Given the description of an element on the screen output the (x, y) to click on. 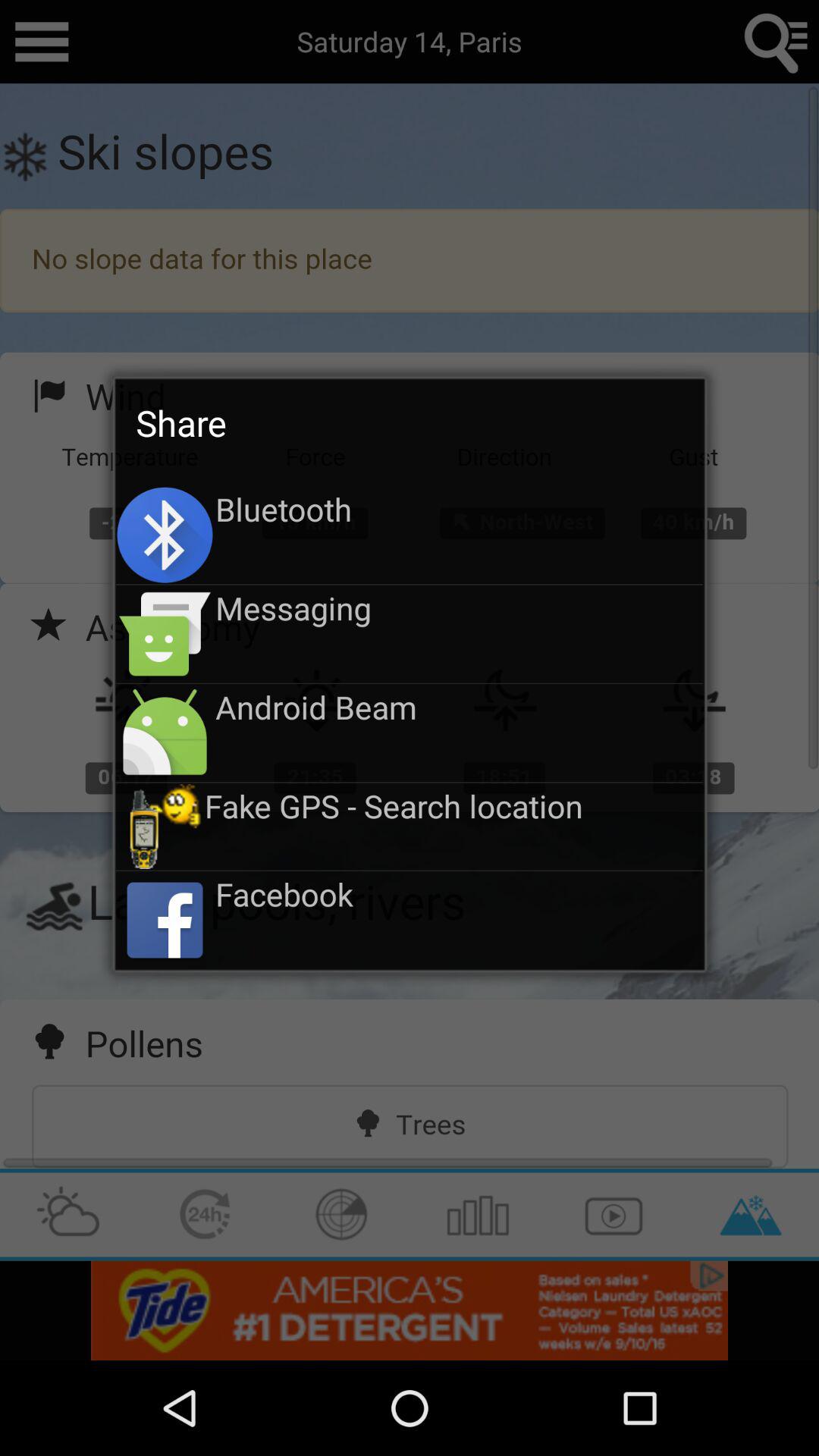
swipe to messaging (458, 607)
